Given the description of an element on the screen output the (x, y) to click on. 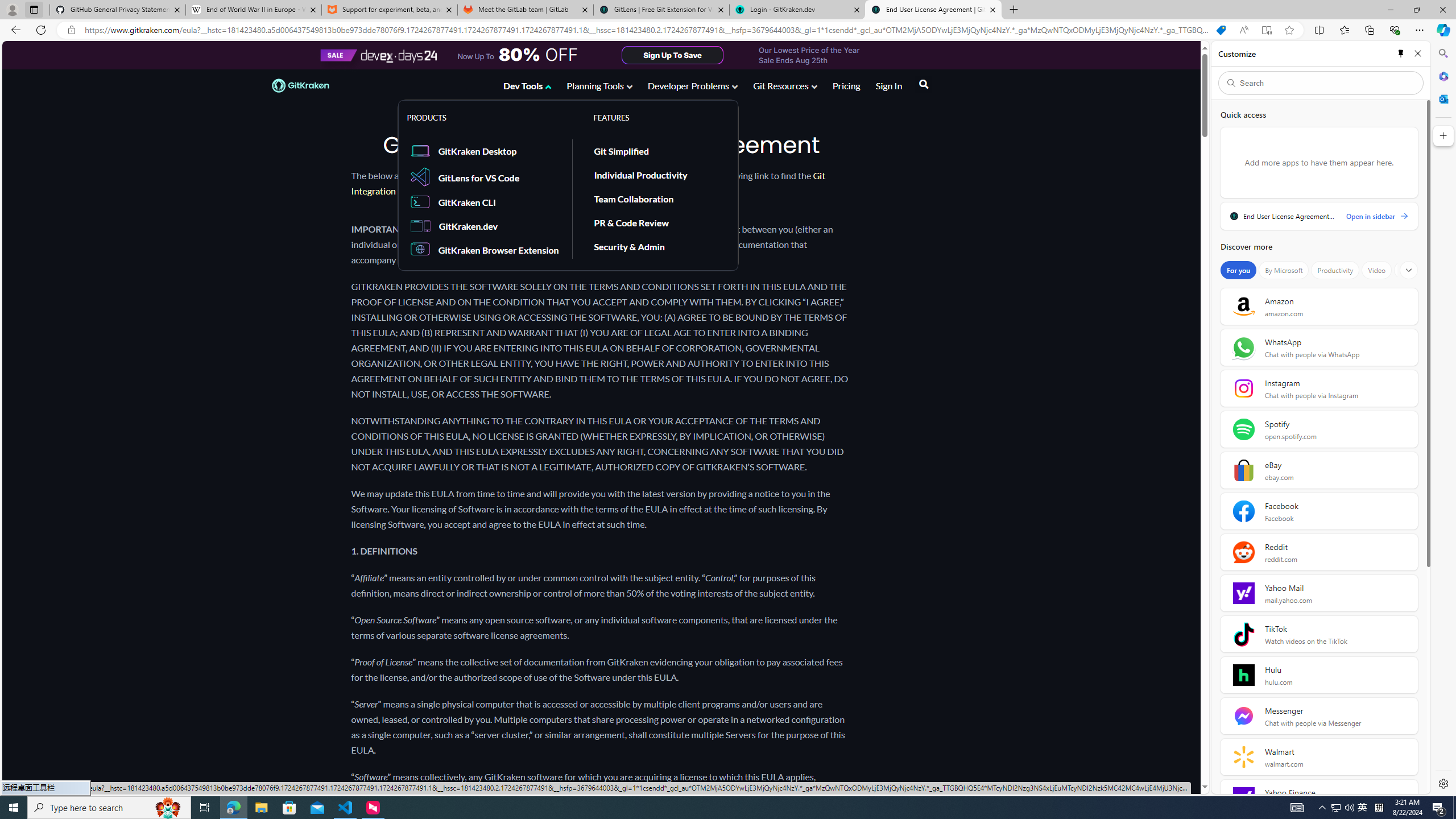
Sign In (888, 85)
Git Simplified (621, 150)
Sign Up To Save (672, 54)
By Microsoft (1282, 270)
Productivity (1334, 270)
Security & Admin (629, 246)
